Given the description of an element on the screen output the (x, y) to click on. 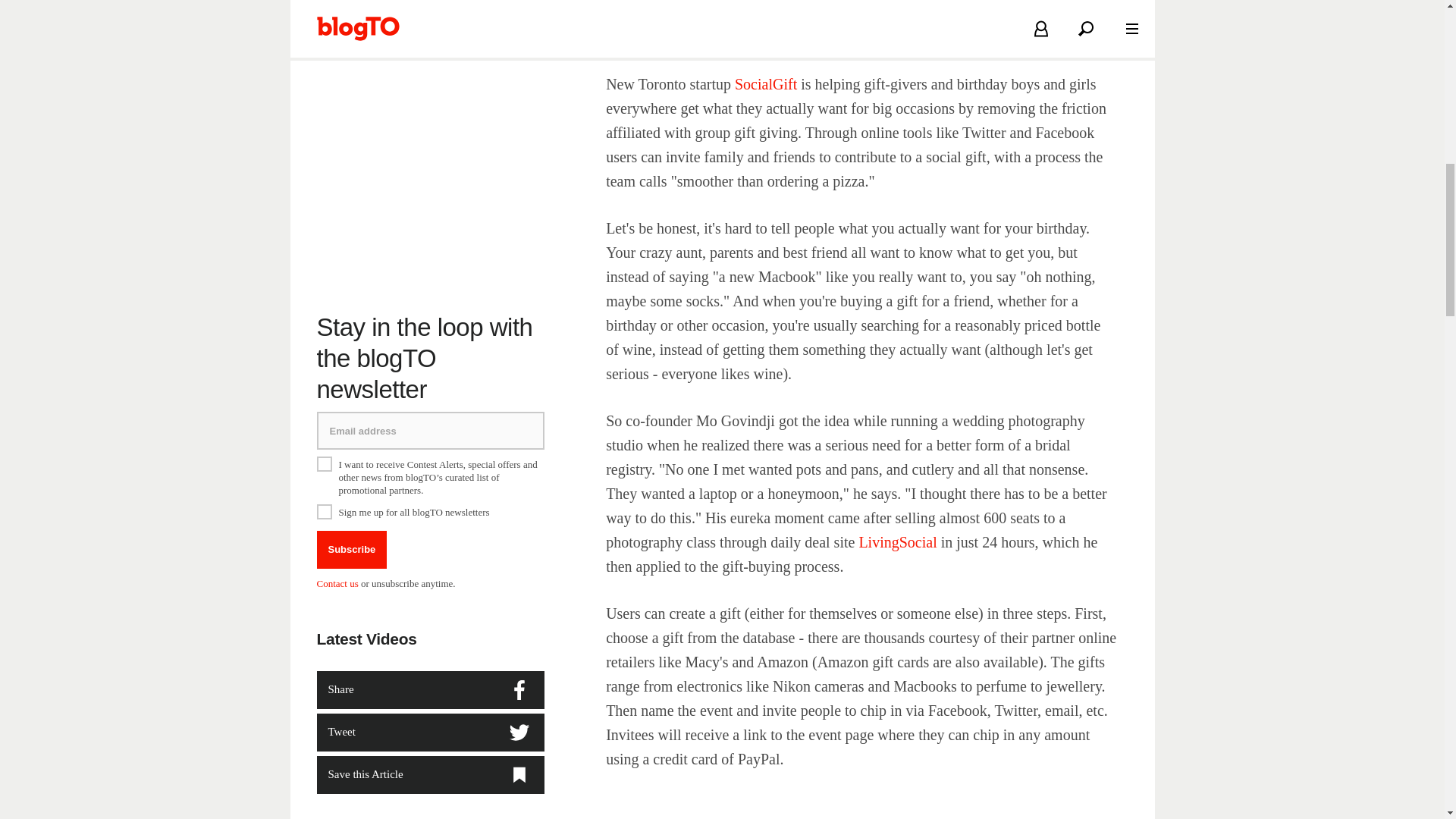
Subscribe (352, 528)
